Given the description of an element on the screen output the (x, y) to click on. 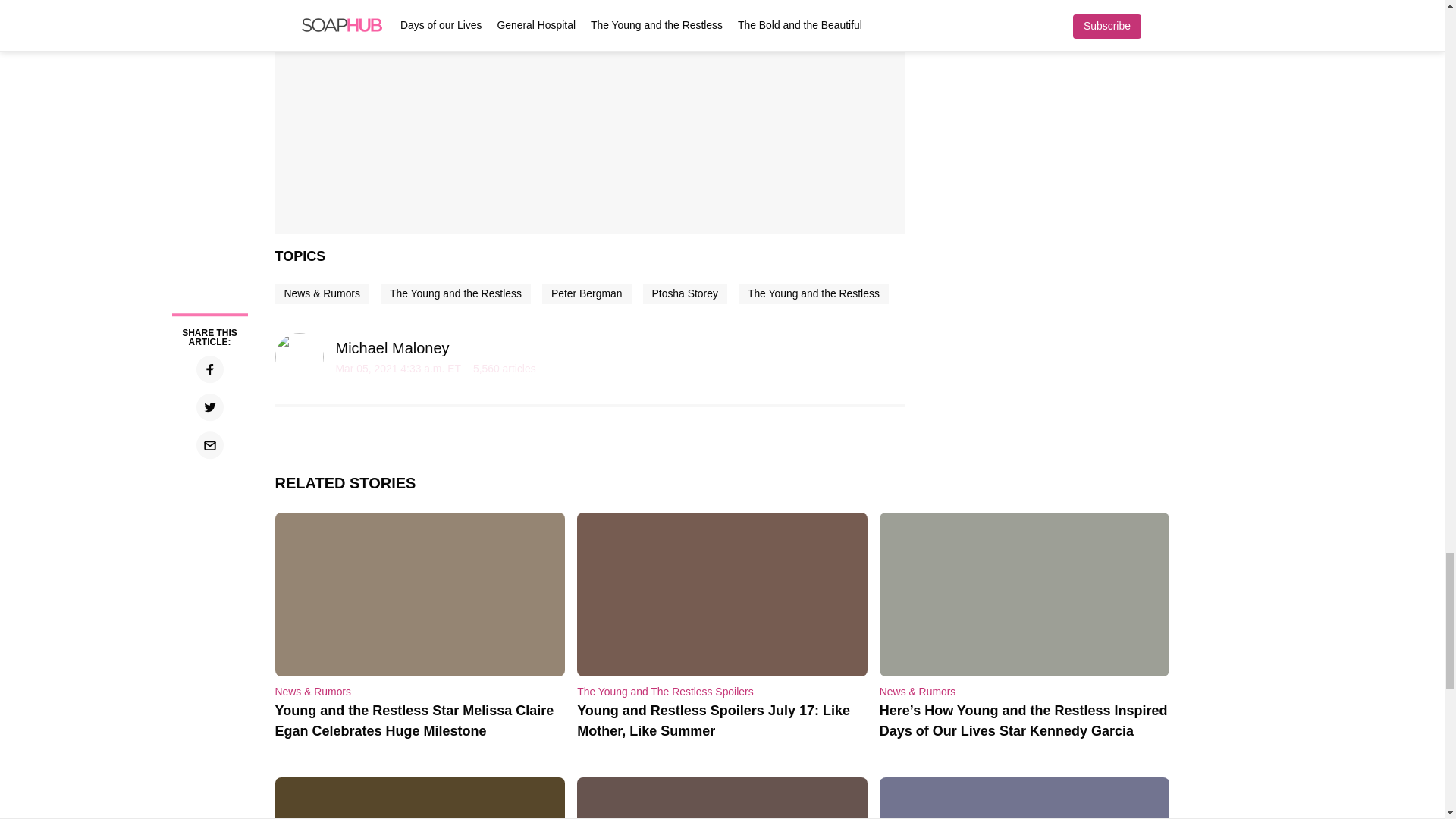
The Young and the Restless (455, 293)
Peter Bergman (586, 293)
Ptosha Storey (684, 293)
Michael Maloney (391, 347)
The Young and the Restless (813, 293)
